Given the description of an element on the screen output the (x, y) to click on. 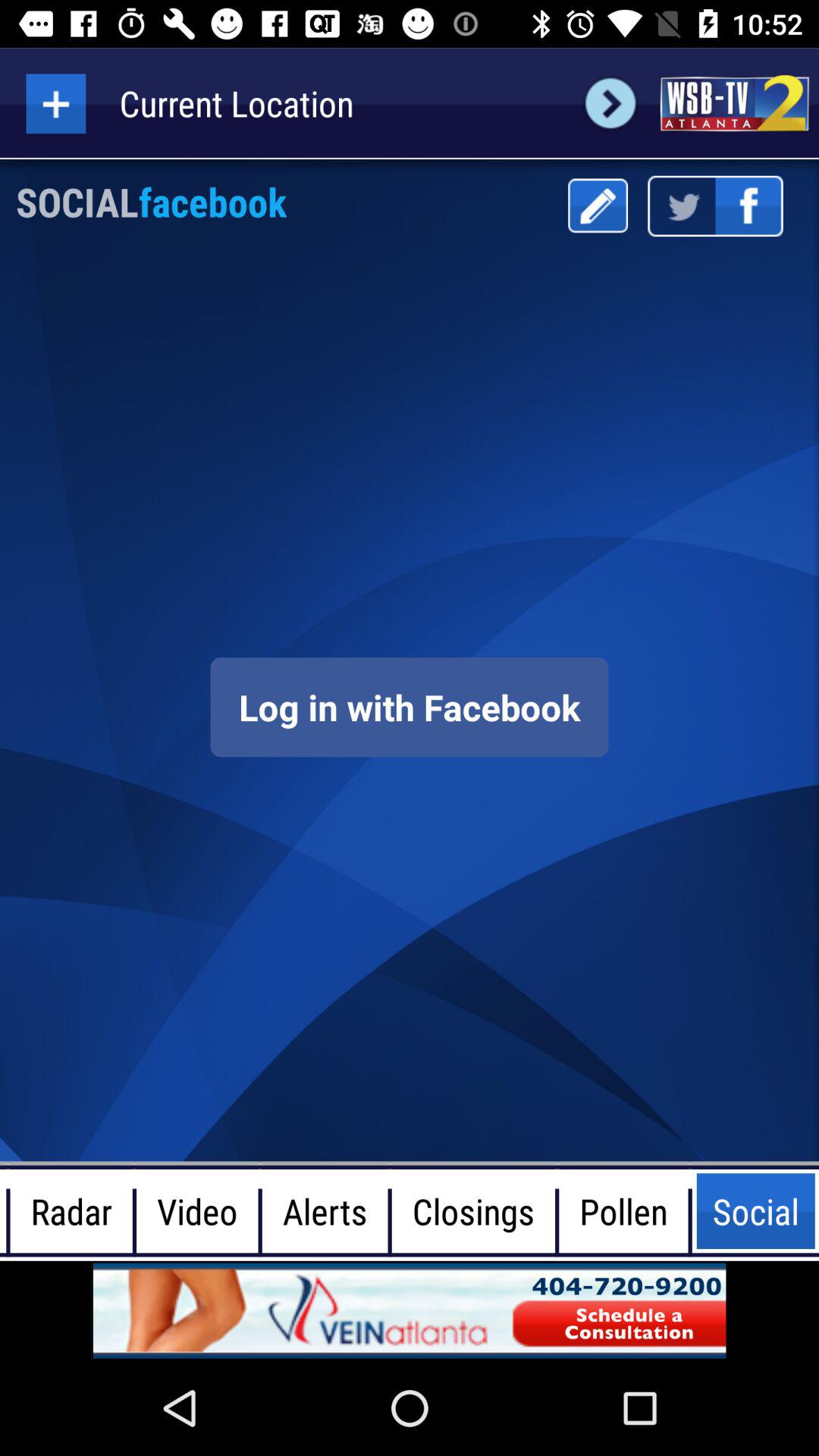
go next (610, 103)
